Given the description of an element on the screen output the (x, y) to click on. 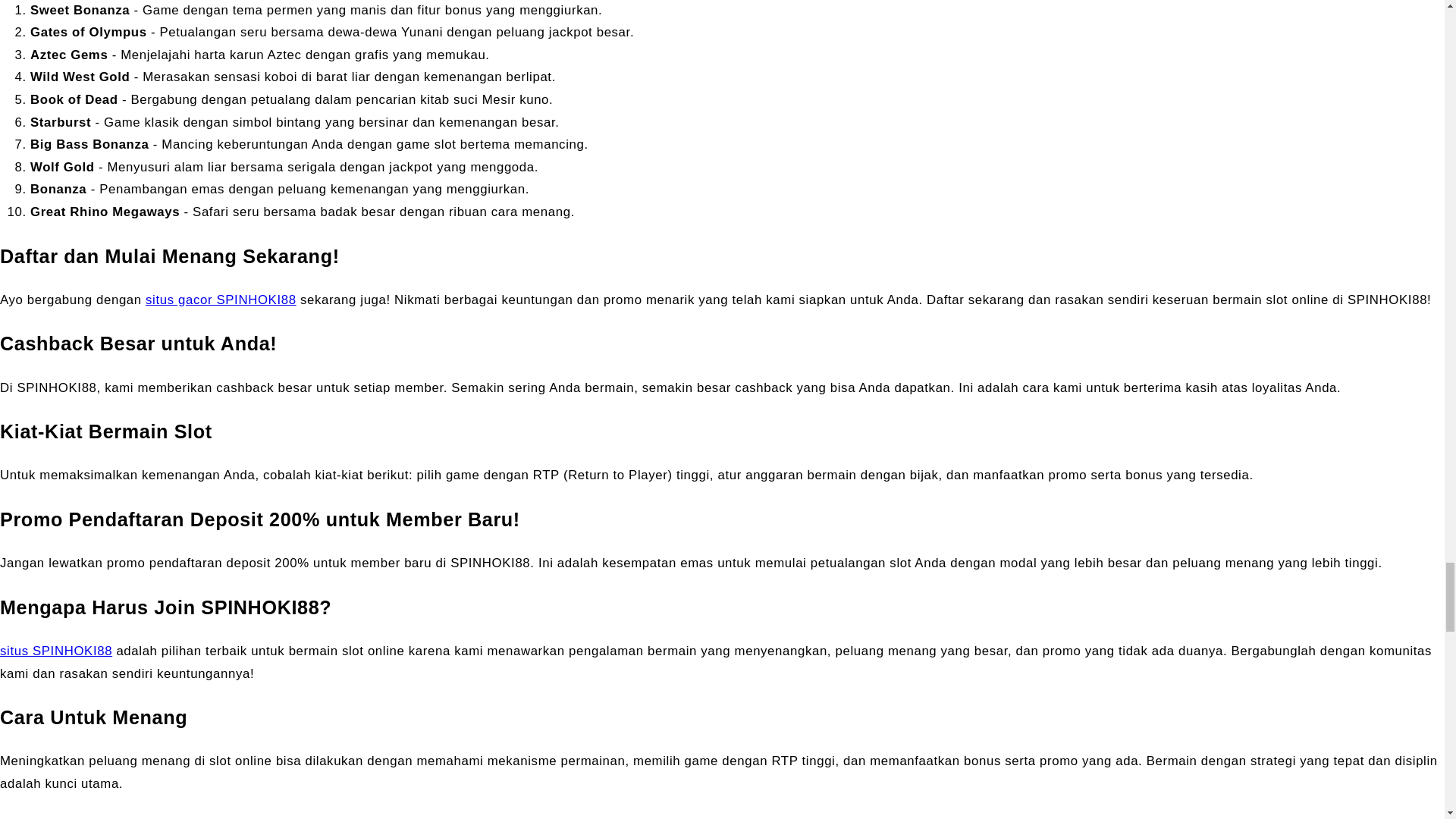
situs SPINHOKI88 (56, 650)
situs gacor SPINHOKI88 (221, 299)
